Given the description of an element on the screen output the (x, y) to click on. 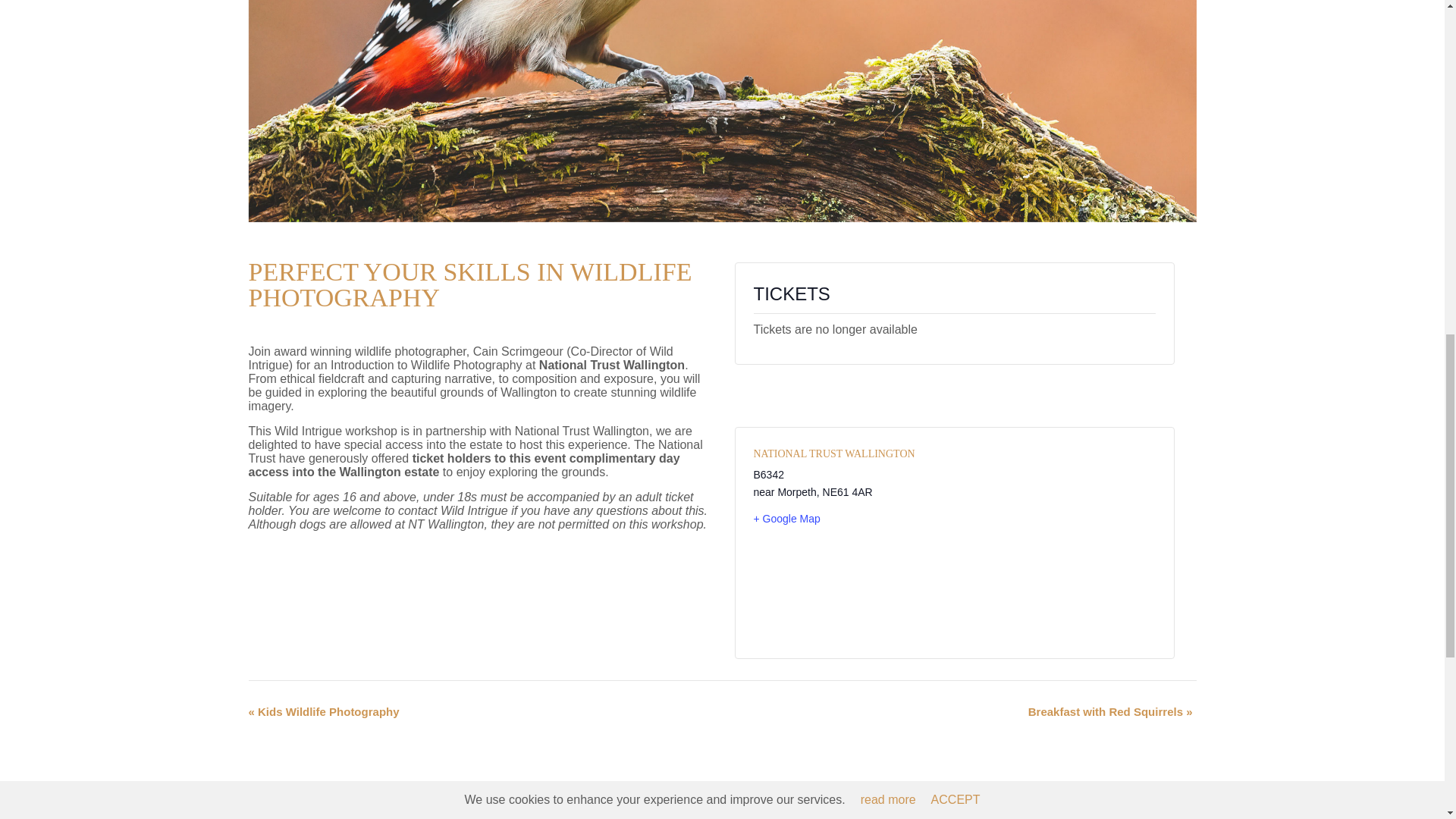
Click to view a Google Map (848, 518)
National Trust Wallington (834, 453)
NATIONAL TRUST WALLINGTON (834, 453)
